Given the description of an element on the screen output the (x, y) to click on. 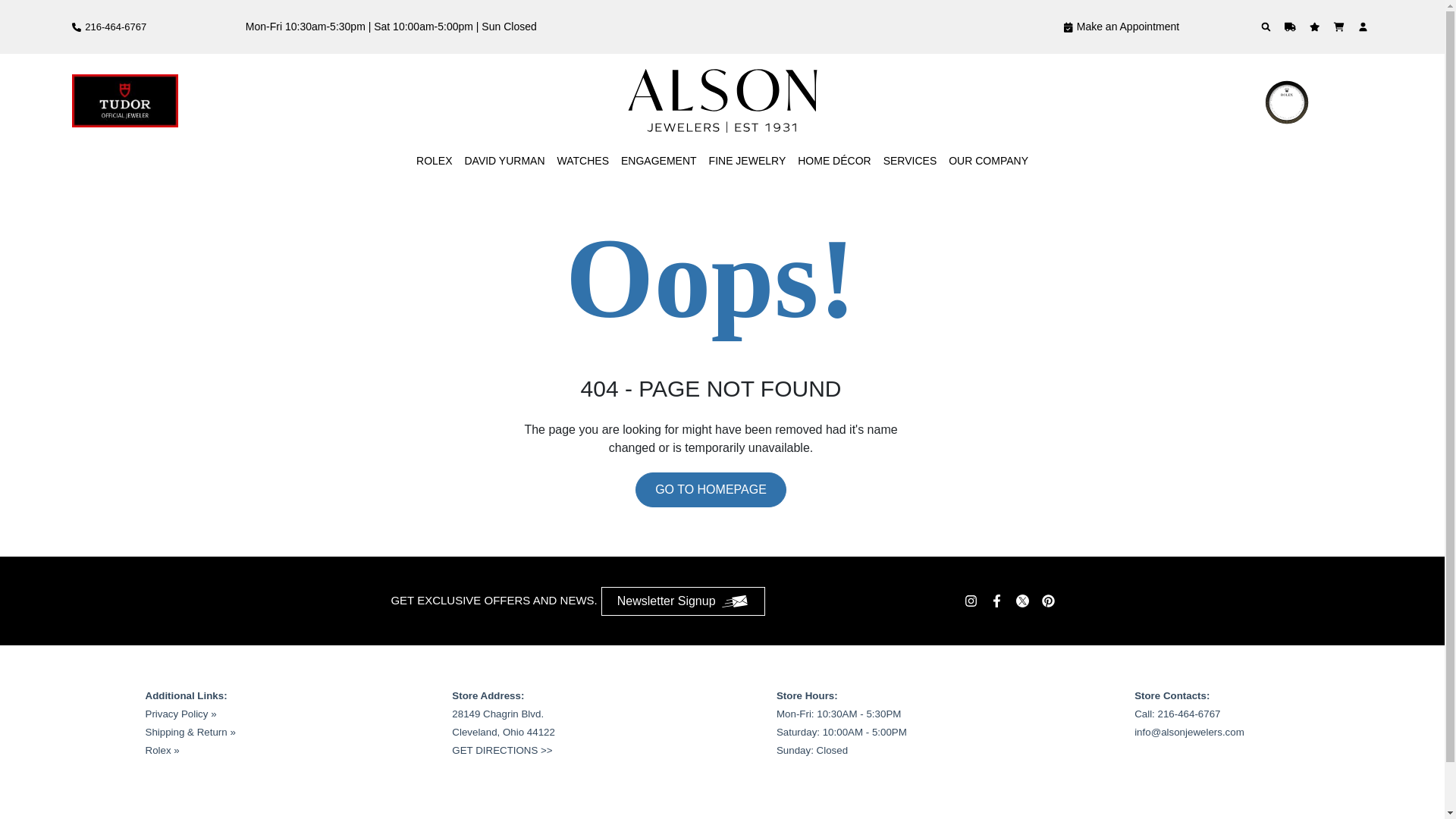
Search (1267, 26)
Make an Appointment (1014, 26)
WATCHES (582, 120)
TUDOR Watches (124, 80)
Wishlist (1315, 26)
Shopping Cart (1340, 26)
Track Order (1292, 26)
DAVID YURMAN (504, 120)
ENGAGEMENT (659, 120)
Make an Appointment (1067, 26)
